Given the description of an element on the screen output the (x, y) to click on. 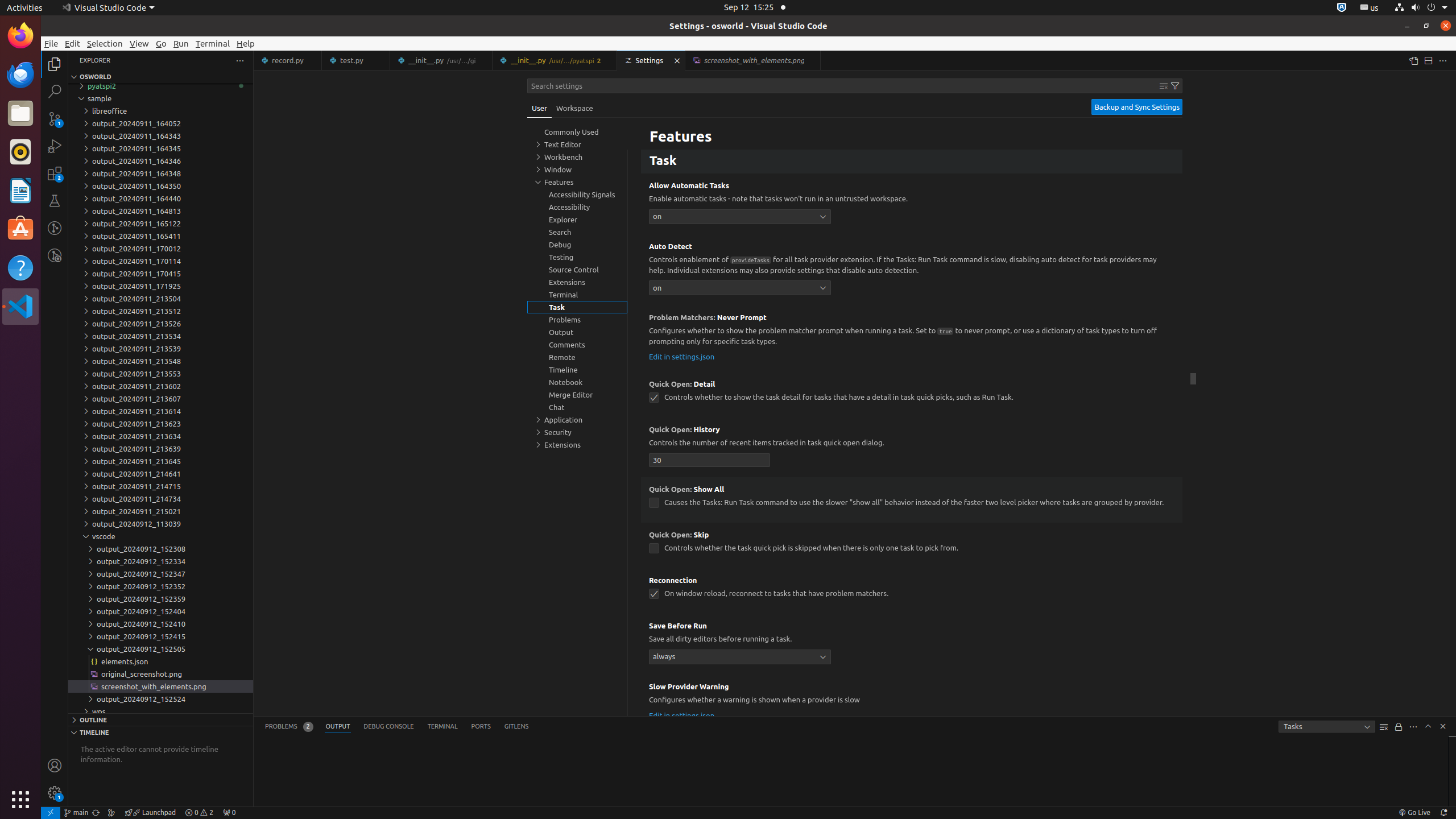
output_20240911_164052 Element type: tree-item (160, 123)
output_20240911_213602 Element type: tree-item (160, 385)
Search, group Element type: tree-item (577, 231)
View Element type: push-button (139, 43)
